Given the description of an element on the screen output the (x, y) to click on. 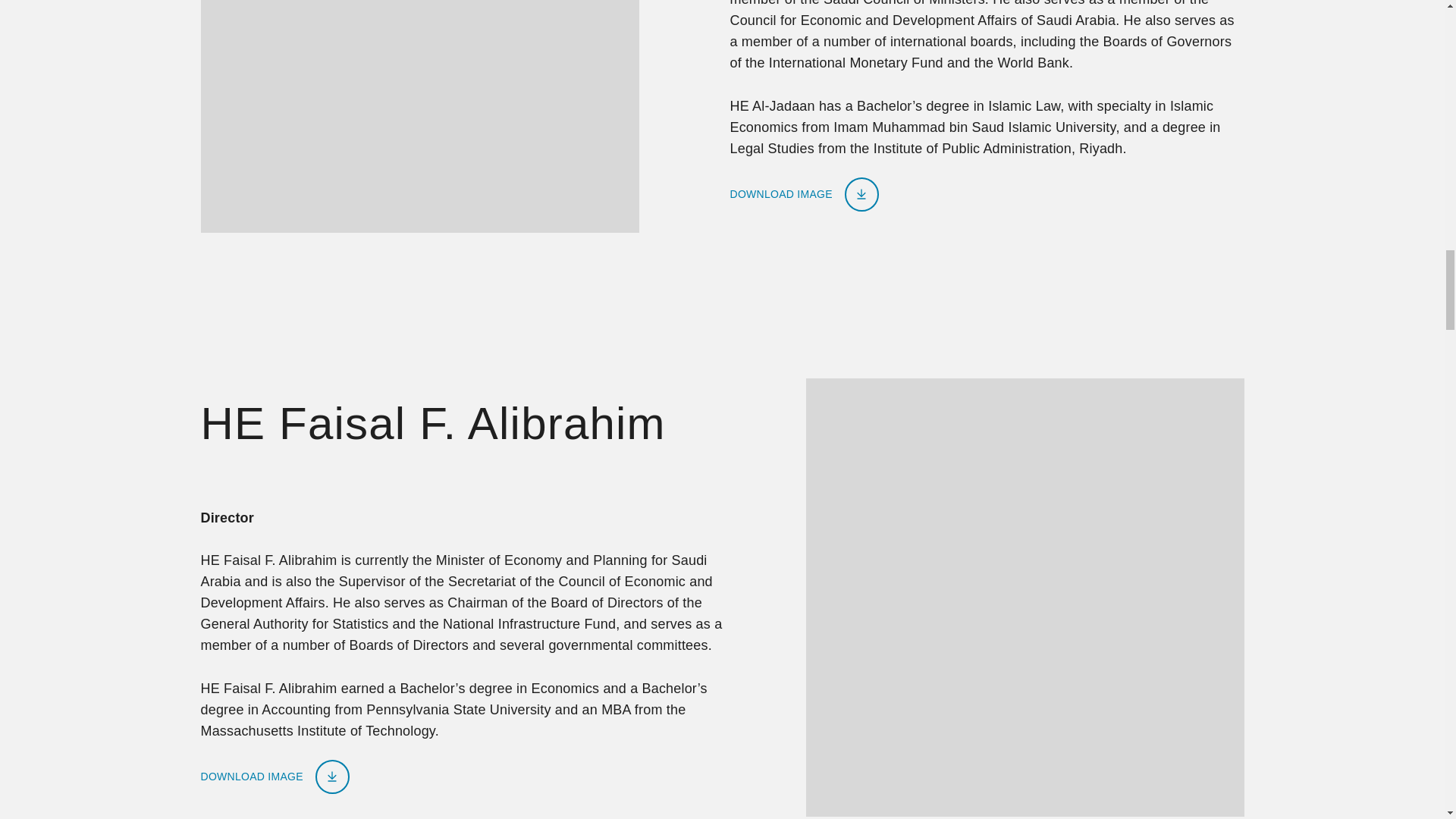
DOWNLOAD IMAGE (803, 194)
DOWNLOAD IMAGE (274, 776)
